Given the description of an element on the screen output the (x, y) to click on. 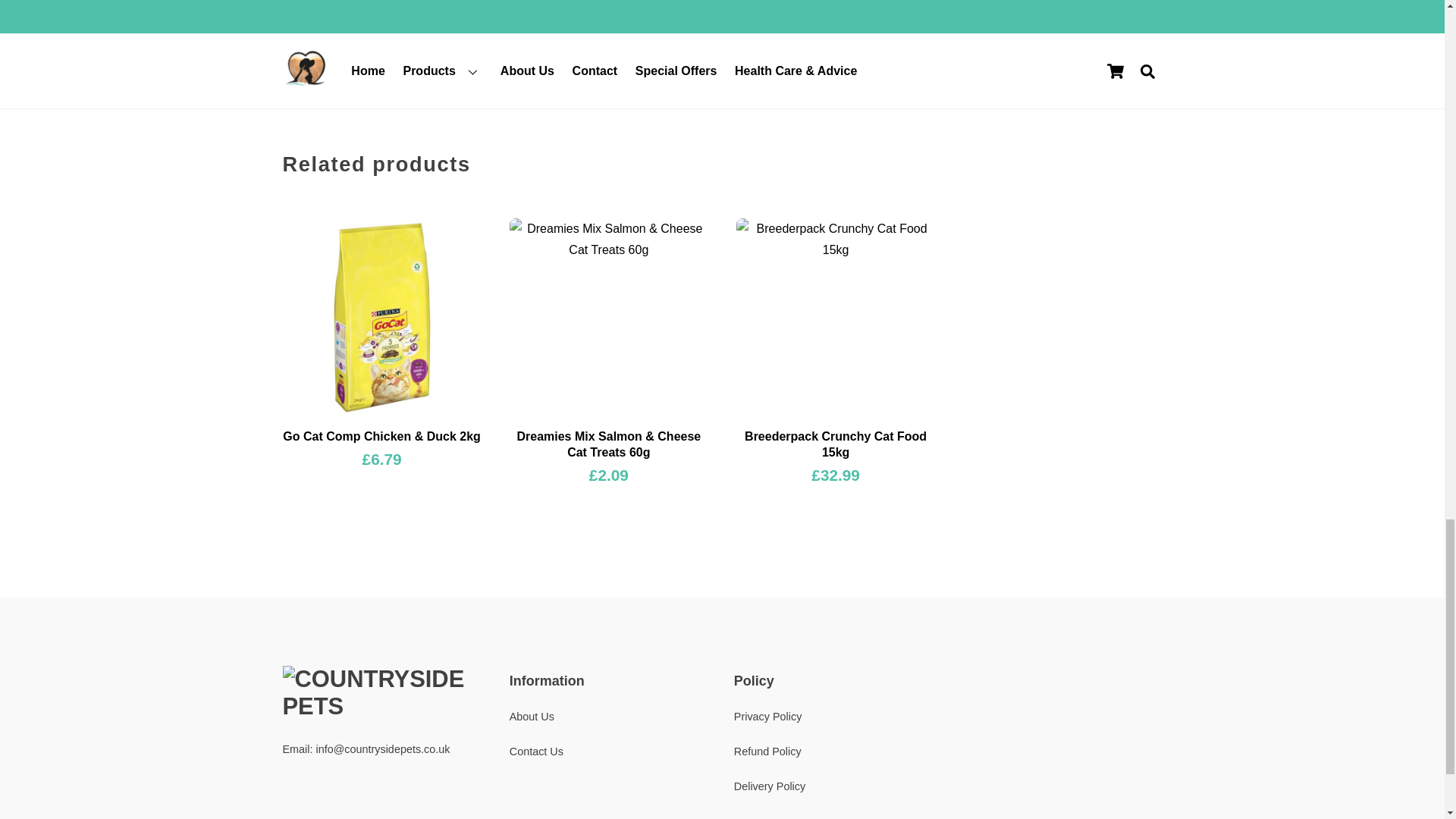
34647e34e42204f96ca493e256255df596717ea8 (608, 317)
Countryside Pets (381, 705)
Submit (316, 84)
b3ed22f2b611c466e1b034df6264154b1a68fdff (835, 317)
yes (290, 43)
3c008ed3635a512476318dcb025f01971f4463c7 (381, 317)
